Given the description of an element on the screen output the (x, y) to click on. 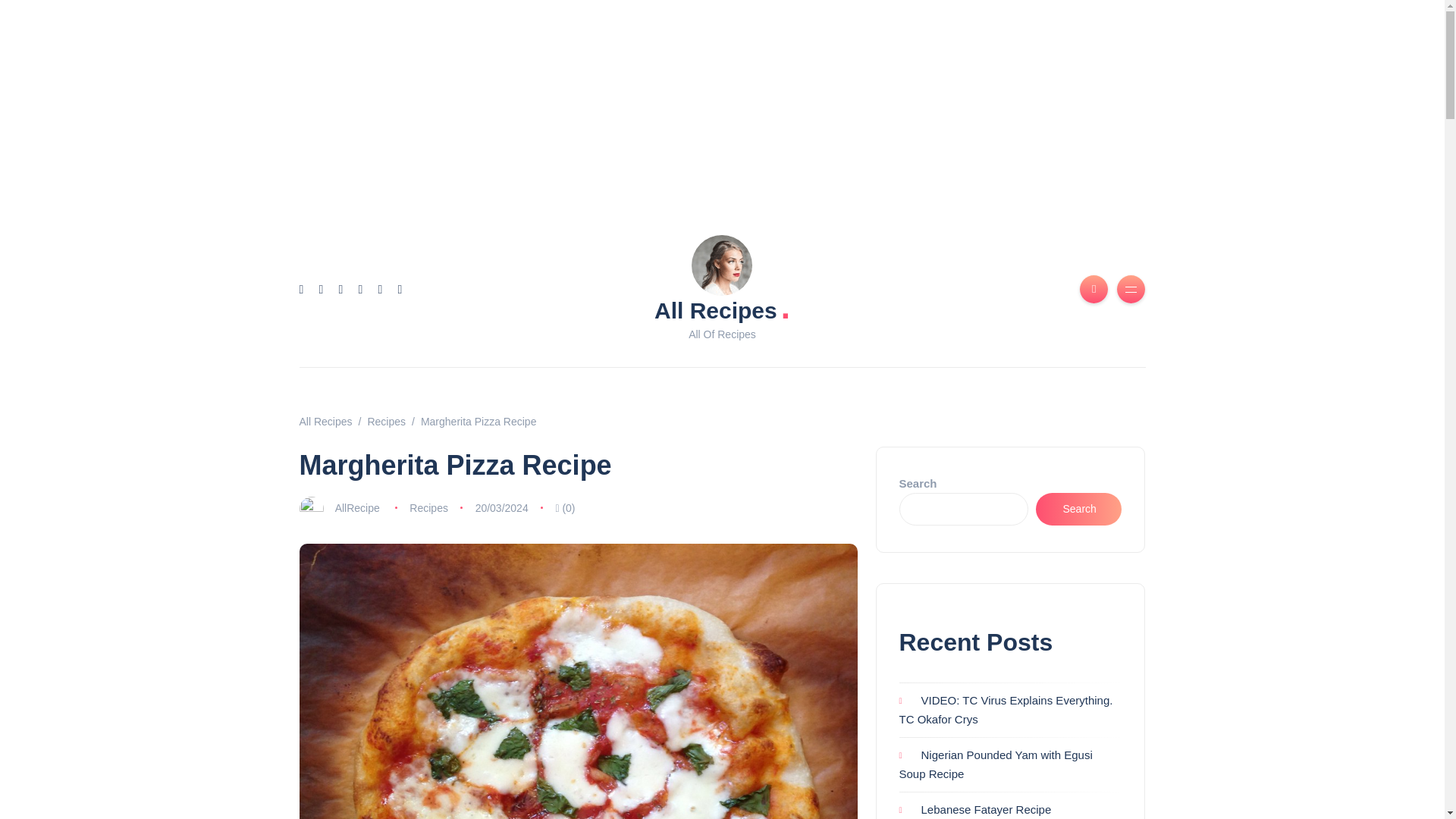
Recipes (428, 508)
AllRecipe (357, 508)
Recipes (386, 421)
Go to All Recipes. (325, 421)
All Recipes. (721, 308)
Posts by AllRecipe (357, 508)
All Recipes (325, 421)
Go to the Recipes Category archives. (386, 421)
